Given the description of an element on the screen output the (x, y) to click on. 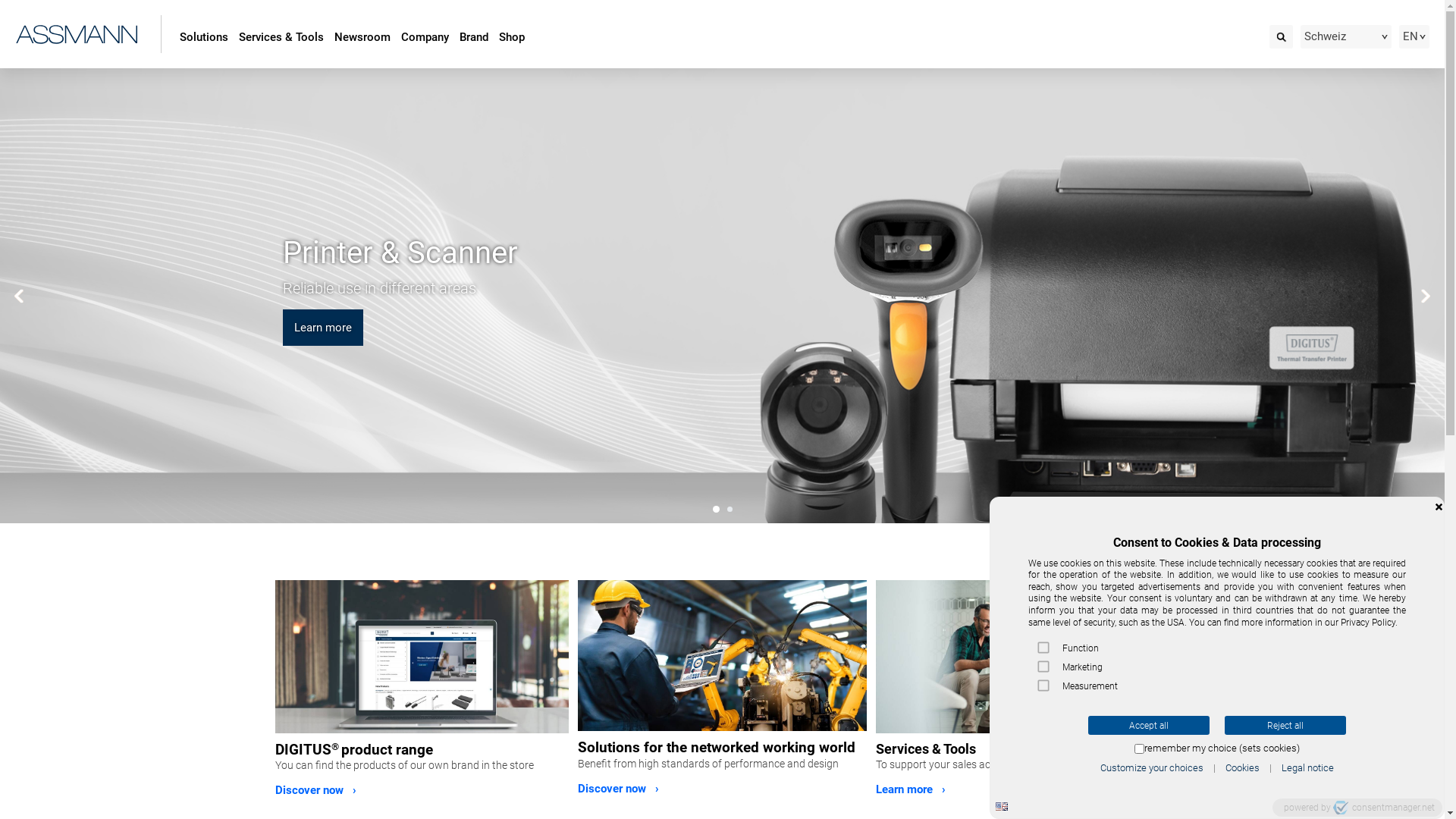
Services & Tools Element type: hover (1022, 656)
Printer & Scanner
Reliable use in different areas
Learn more Element type: text (722, 295)
Privacy settings Element type: hover (1426, 801)
Solutions Element type: hover (721, 655)
Shop Element type: text (511, 37)
Accept all Element type: text (1148, 724)
Brand Element type: text (473, 37)
Legal notice Element type: text (1307, 767)
Language: en Element type: hover (1001, 806)
Cookies Element type: text (1242, 767)
Newsroom Element type: text (362, 37)
Solutions Element type: text (203, 37)
Company Element type: text (424, 37)
ACH Shop Element type: hover (420, 656)
Services & Tools Element type: text (280, 37)
Reject all Element type: text (1285, 724)
X Element type: hover (1438, 506)
Customize your choices Element type: text (1151, 767)
Language: en Element type: hover (1001, 806)
consentmanager.net Element type: text (1383, 807)
to the homepage Element type: hover (76, 31)
